Given the description of an element on the screen output the (x, y) to click on. 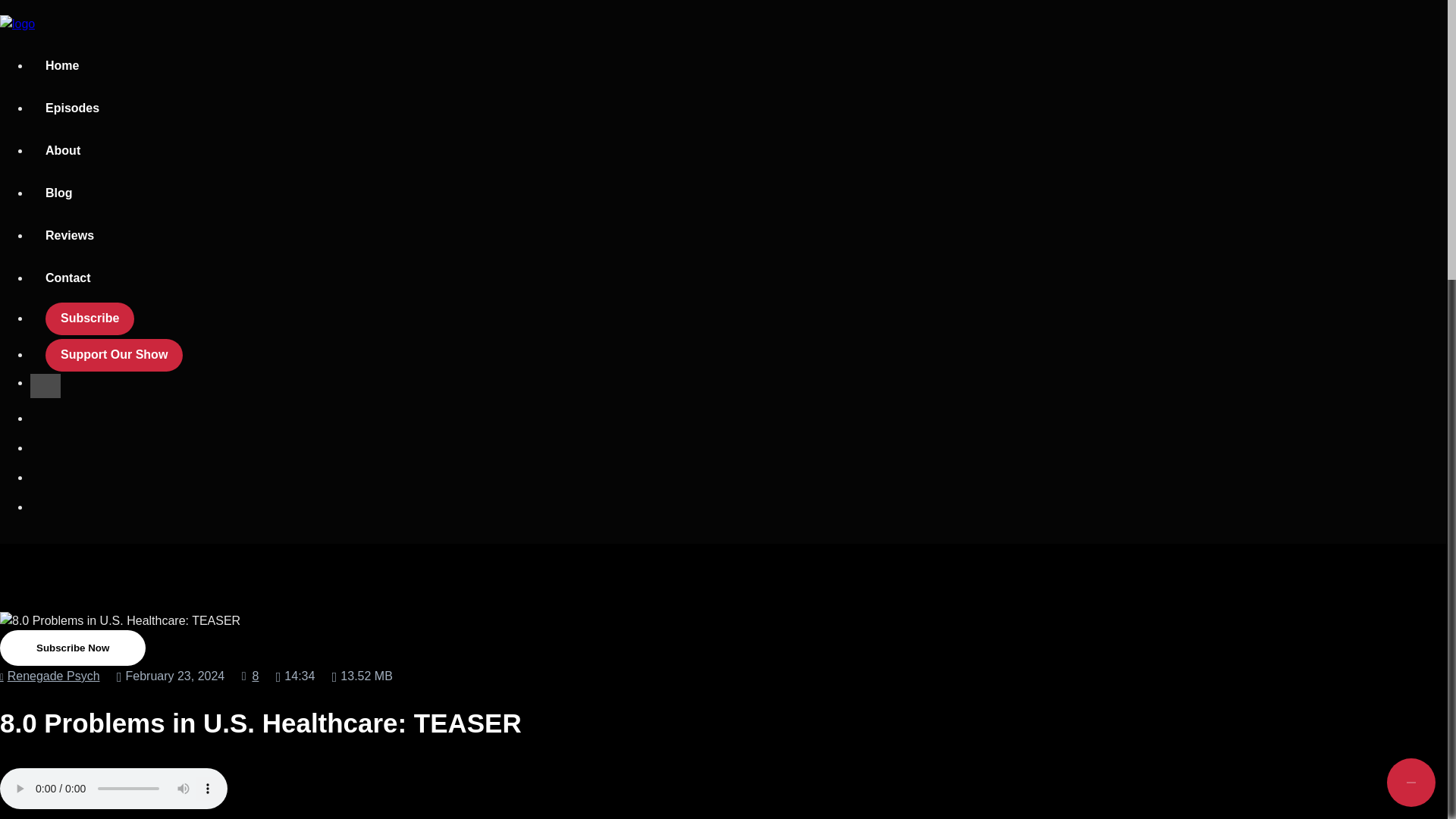
Episode Duration (295, 675)
Renegade Psych (50, 676)
Support Our Show (114, 355)
Reviews (69, 236)
Home (62, 66)
Episode Weight (362, 675)
Date (170, 675)
Subscribe (89, 318)
Contact (68, 278)
Episodes (72, 108)
Subscribe Now (72, 647)
Blog (58, 193)
Podcast (50, 675)
About (63, 151)
